Given the description of an element on the screen output the (x, y) to click on. 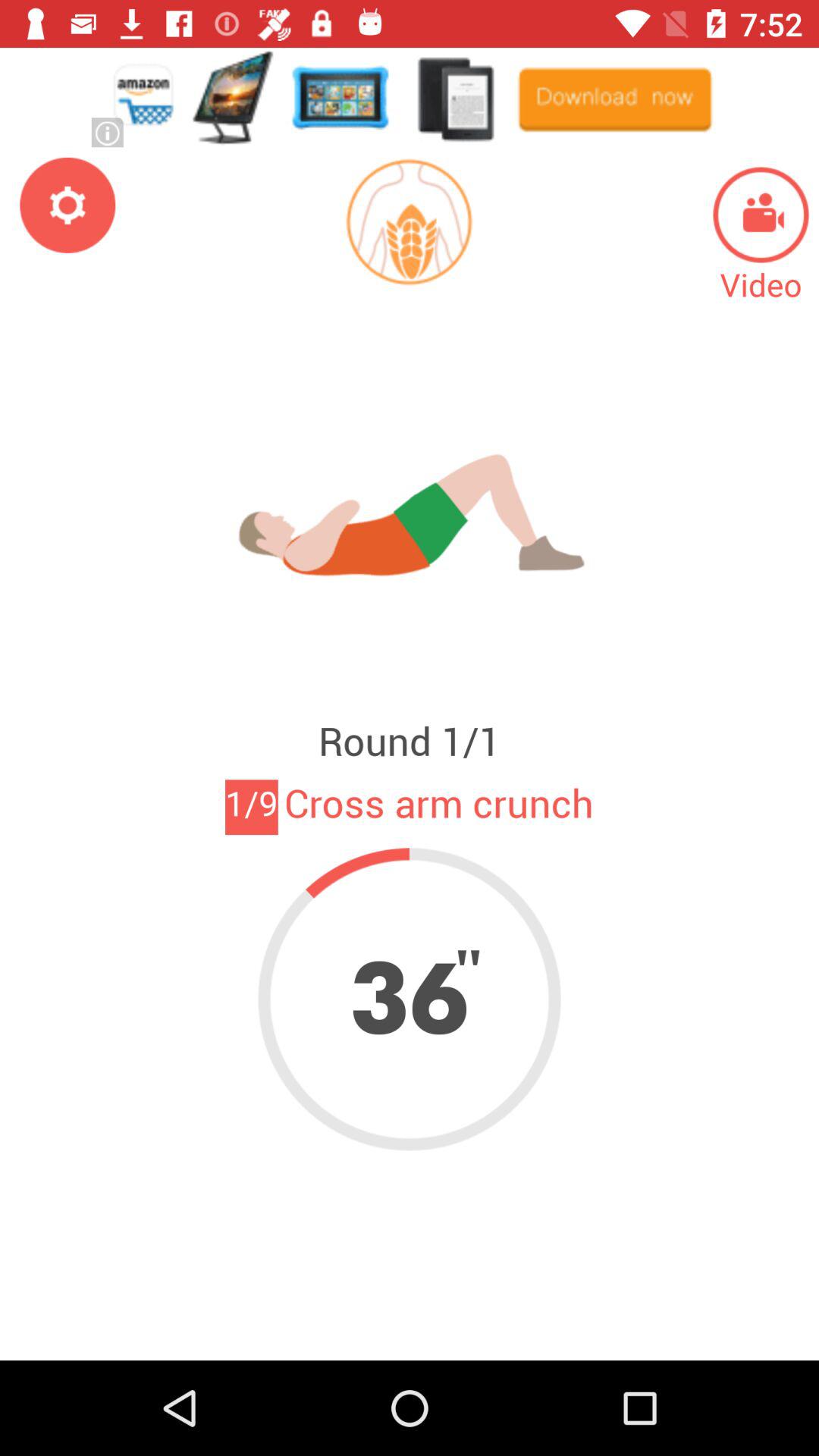
advertisement (409, 97)
